Given the description of an element on the screen output the (x, y) to click on. 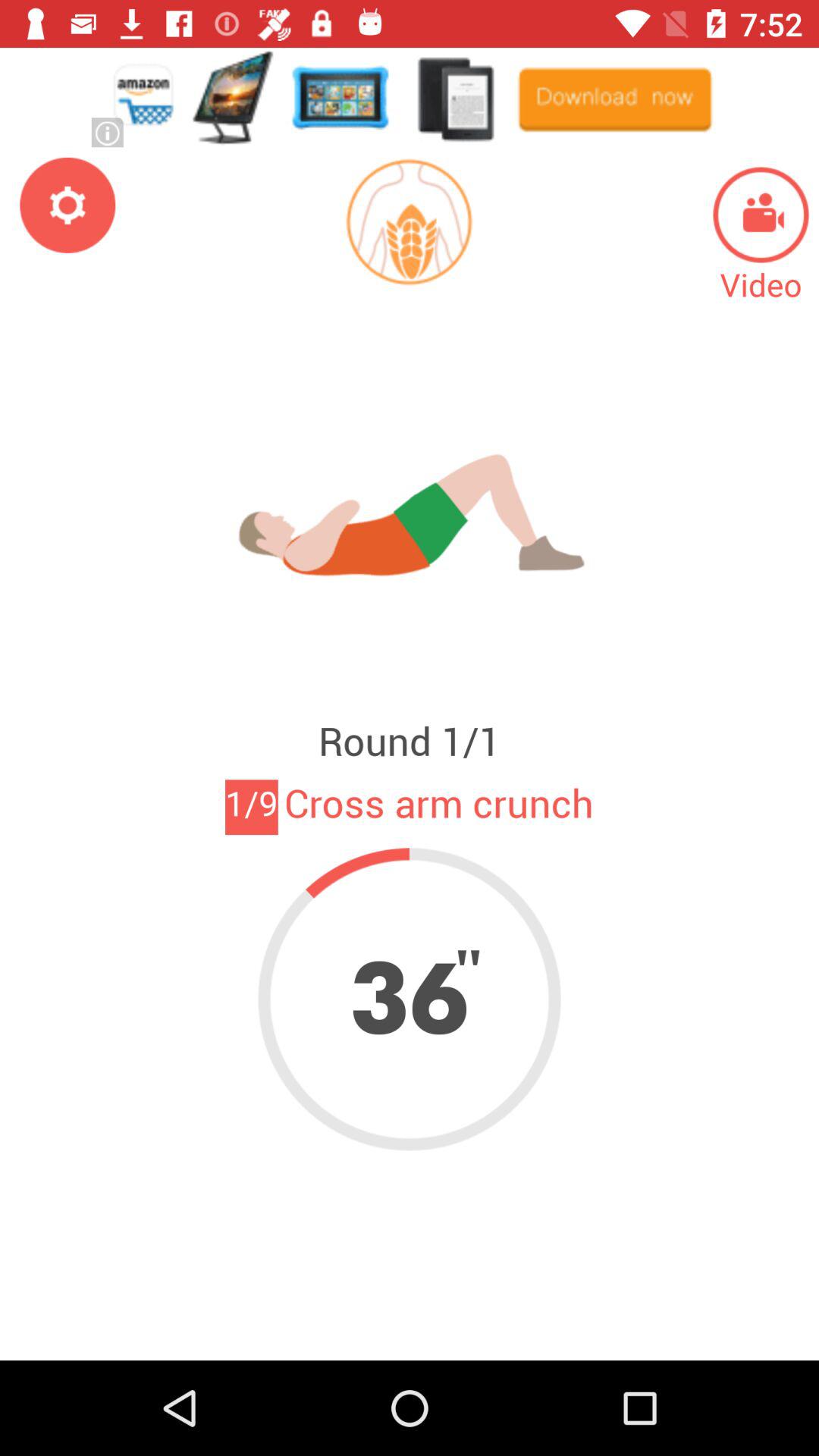
advertisement (409, 97)
